Given the description of an element on the screen output the (x, y) to click on. 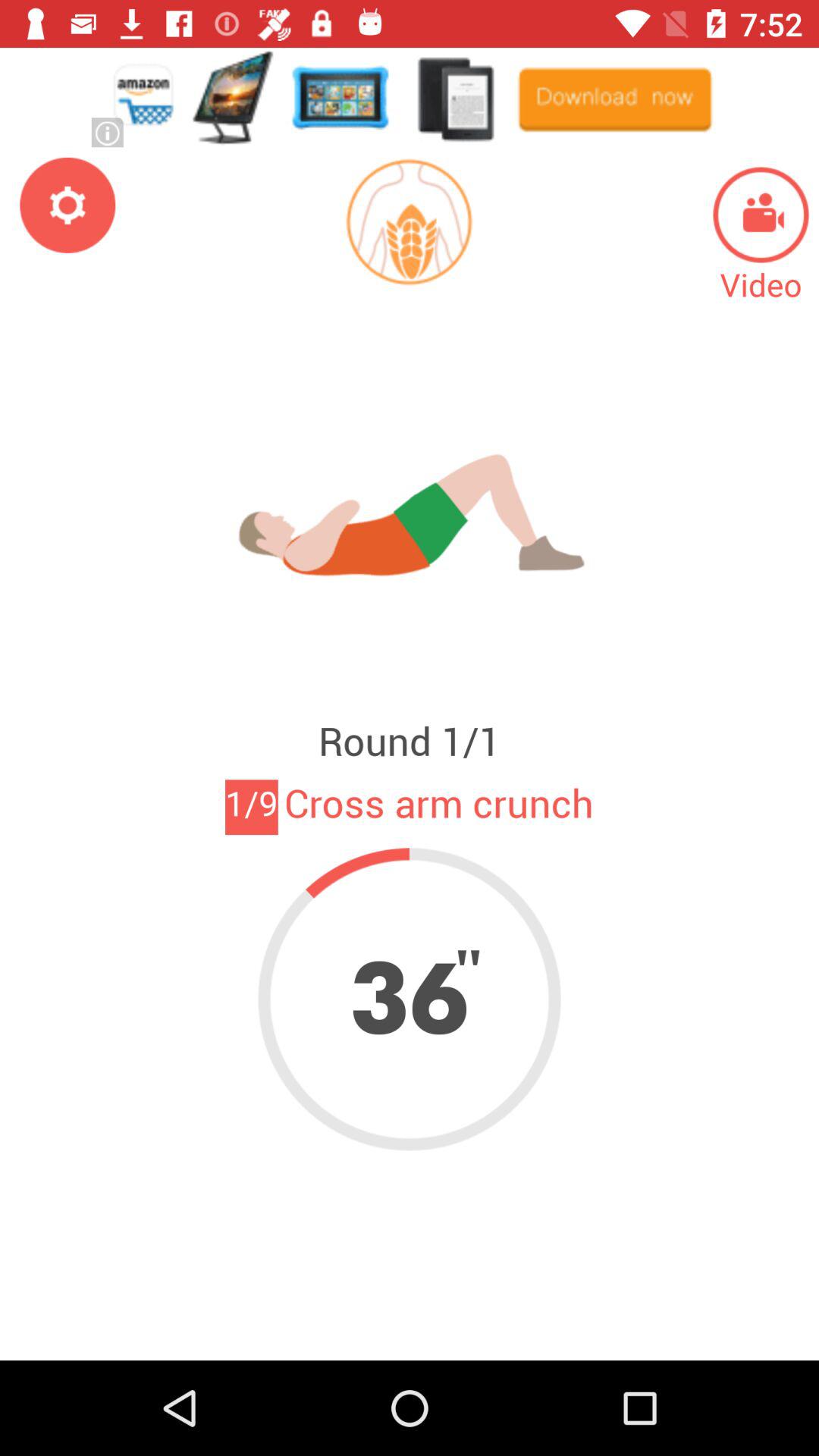
advertisement (409, 97)
